Given the description of an element on the screen output the (x, y) to click on. 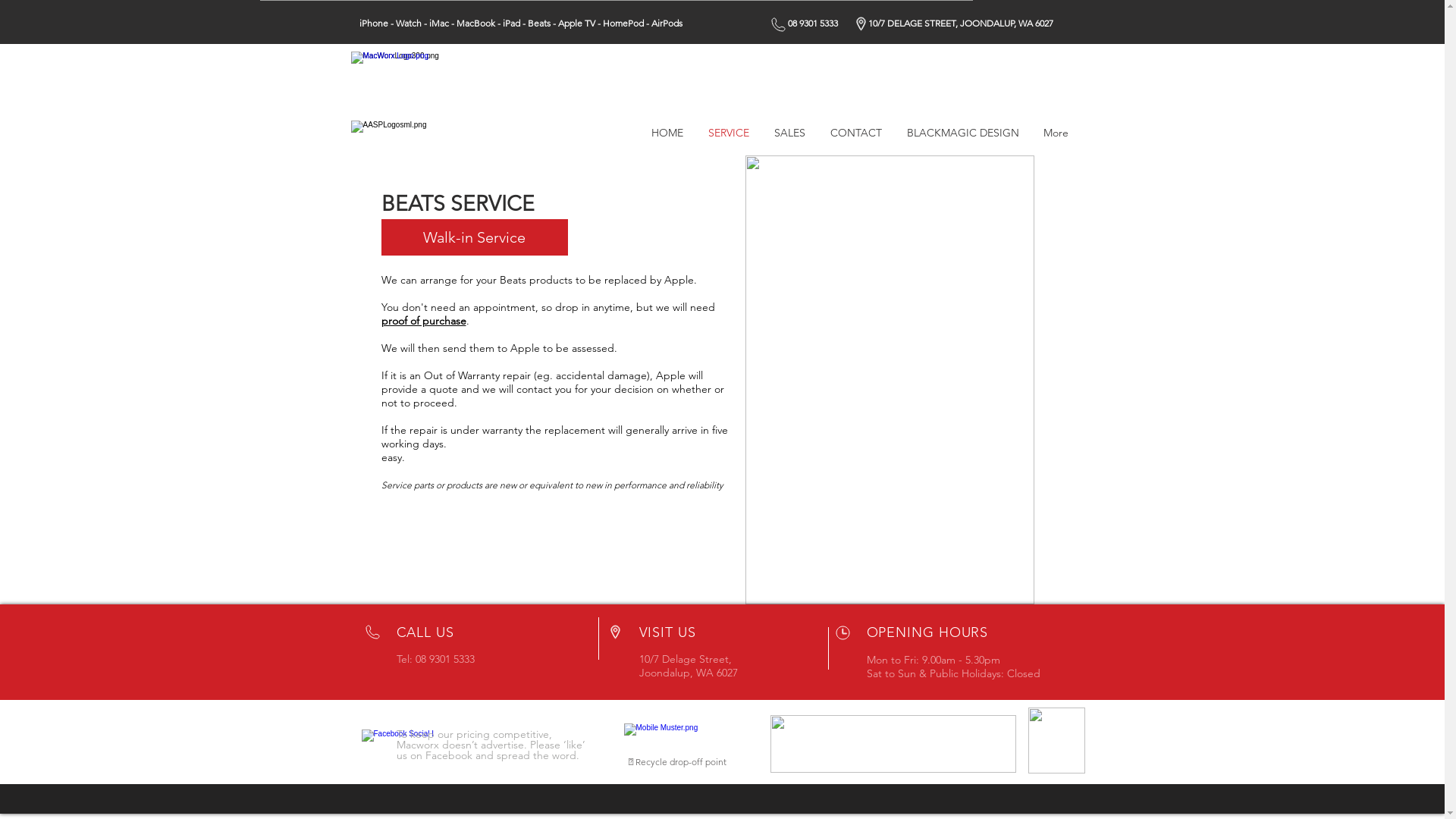
SALES Element type: text (789, 132)
iPhone -  Element type: text (377, 22)
Apple TV Element type: text (576, 22)
proof of purchase Element type: text (422, 320)
HOME Element type: text (666, 132)
08 9301 5333 Element type: text (812, 22)
HomePod Element type: text (622, 22)
SERVICE Element type: text (729, 132)
10/7 DELAGE STREET, JOONDALUP, WA 6027 Element type: text (959, 22)
BLACKMAGIC DESIGN Element type: text (962, 132)
Walk-in Service Element type: text (473, 237)
CONTACT Element type: text (855, 132)
AirPods Element type: text (665, 22)
Mac  Element type: text (440, 22)
MacBook Element type: text (475, 22)
Beats Element type: text (538, 22)
iPad Element type: text (510, 22)
Watch Element type: text (408, 22)
